Given the description of an element on the screen output the (x, y) to click on. 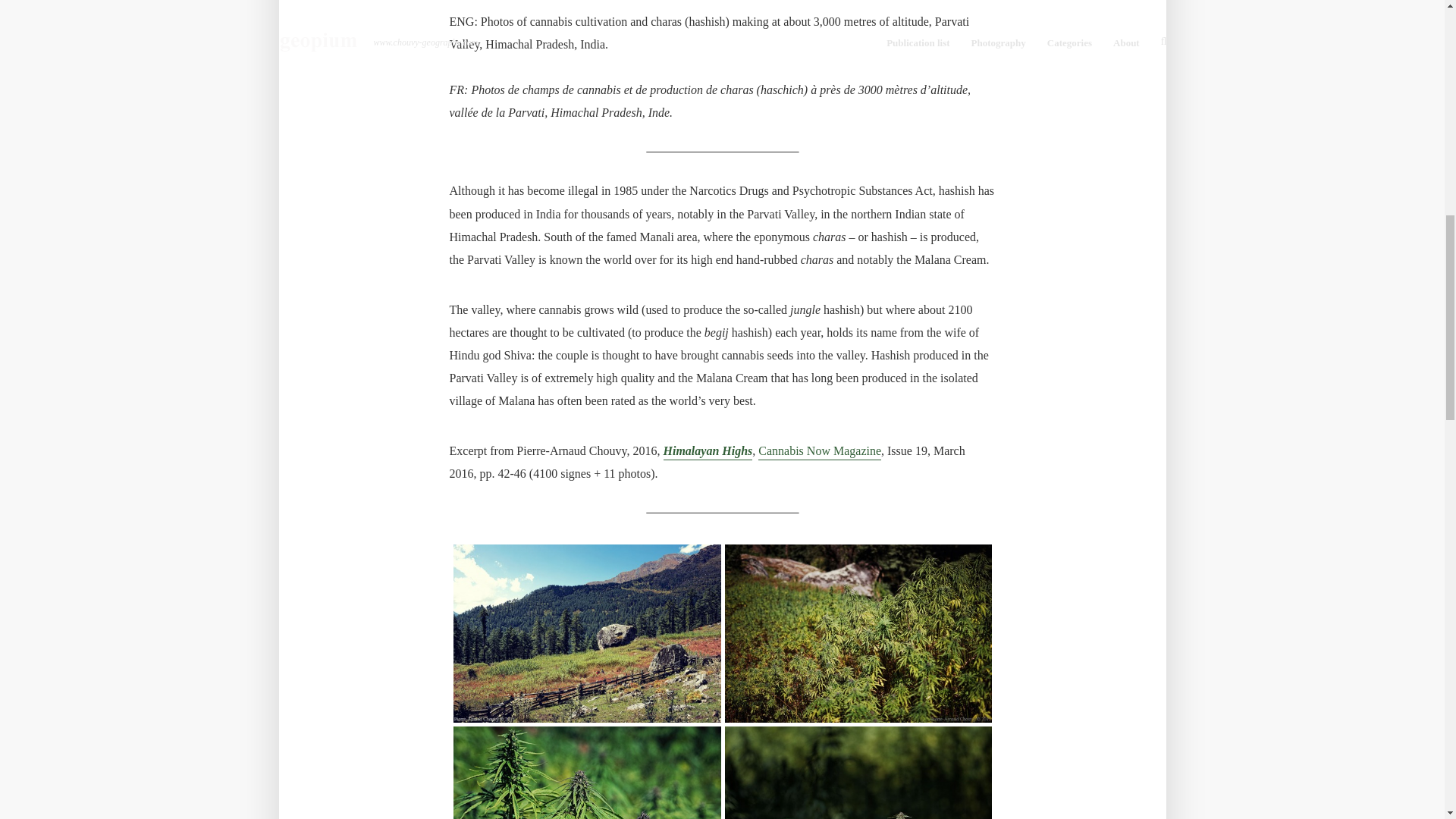
Himalayan Highs (707, 452)
Cannabis Now Magazine (819, 452)
